Given the description of an element on the screen output the (x, y) to click on. 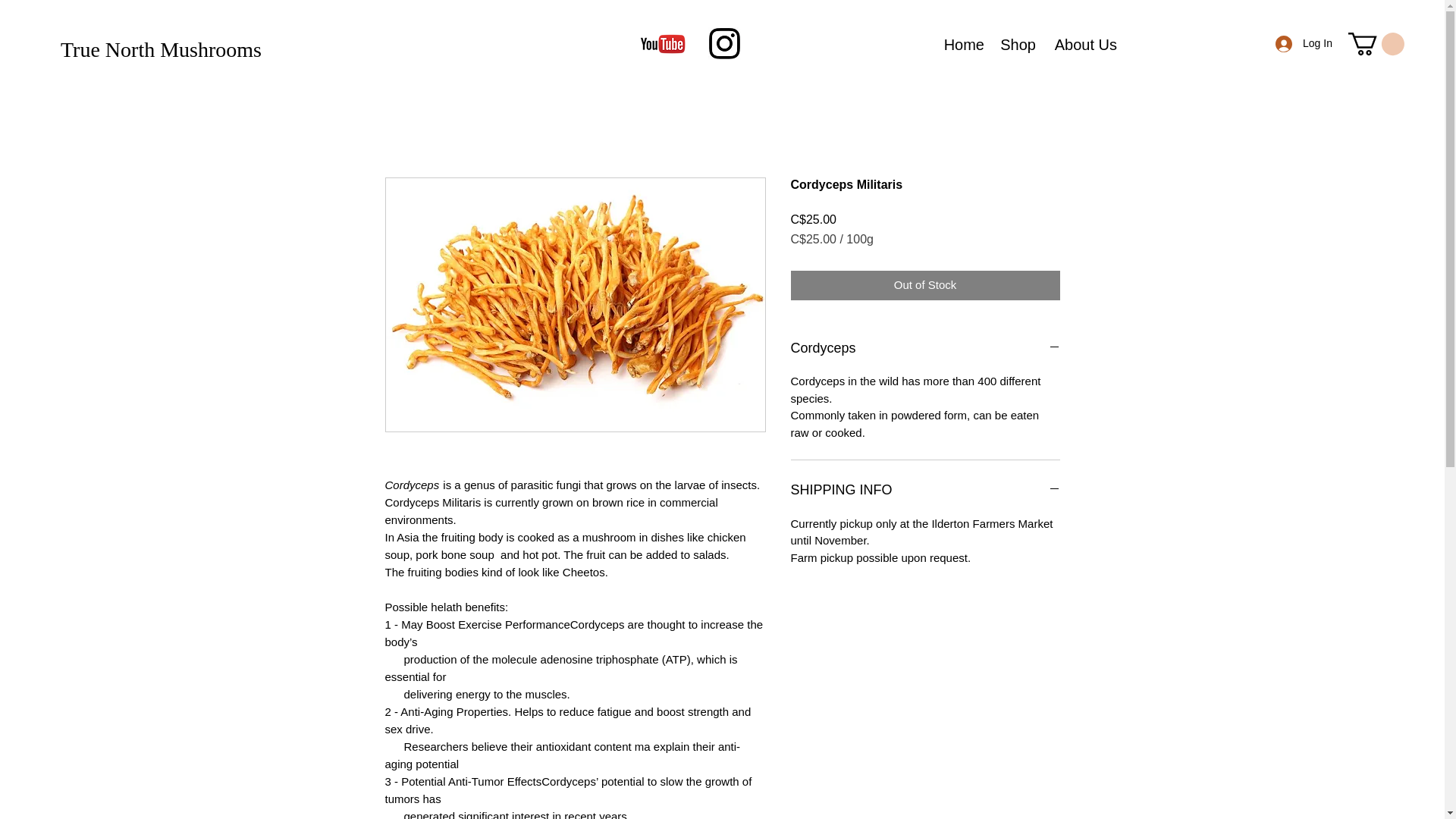
About Us (1083, 42)
Our YouTube channel (662, 43)
Our instagram site (724, 43)
True North Mushrooms (161, 49)
Shop (1017, 42)
Log In (1301, 43)
Out of Stock (924, 285)
Cordyceps (924, 348)
Home (962, 42)
SHIPPING INFO (924, 490)
